Given the description of an element on the screen output the (x, y) to click on. 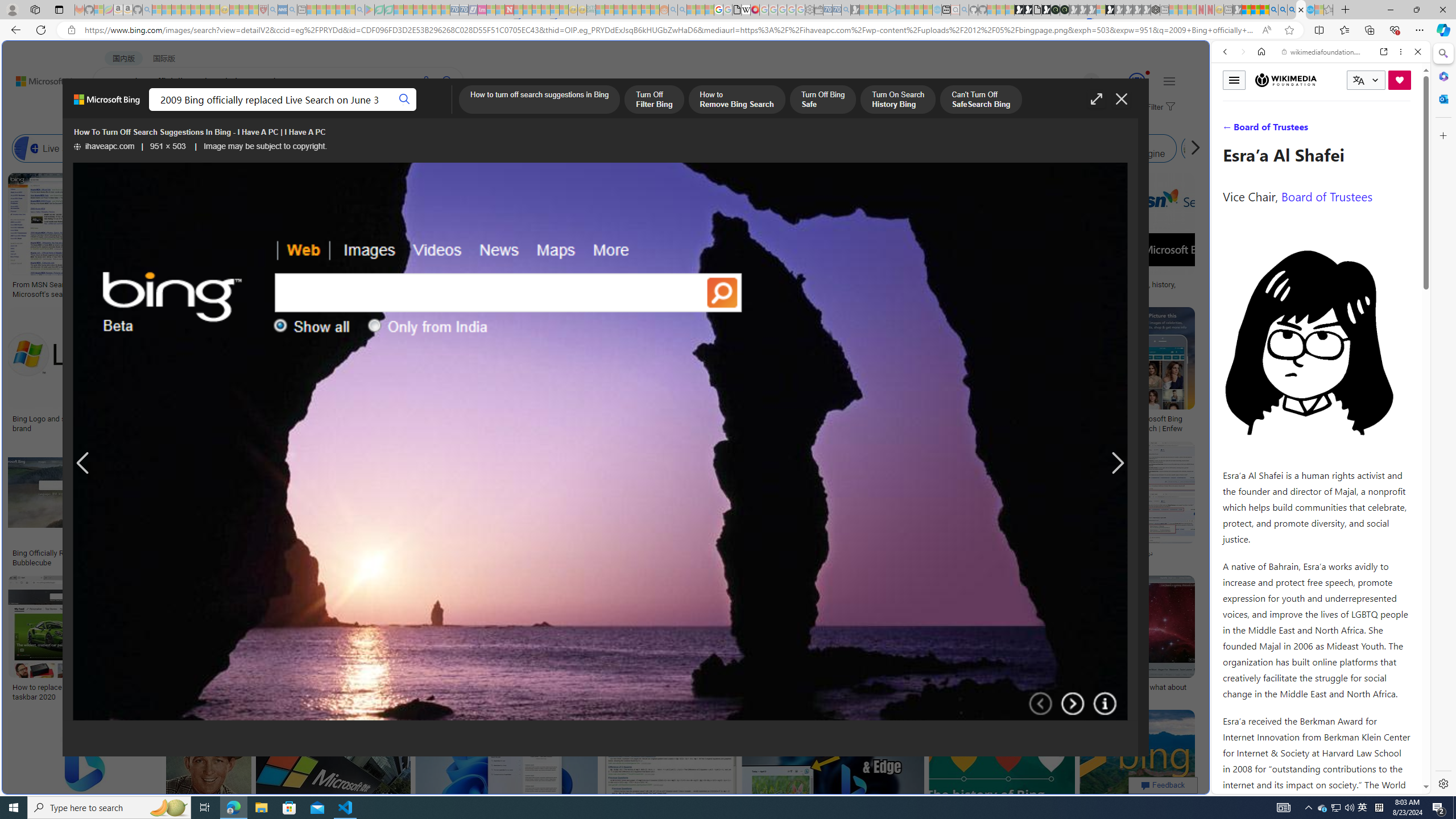
Search using voice (426, 80)
Wiktionary (1315, 380)
Target page - Wikipedia (745, 9)
microsoft bingSave (1045, 371)
Microsoft Bing Search | Enfew (1162, 423)
Bing (2009) (RARE/FAKE) - YouTube (942, 552)
DICT (407, 111)
Remove the 'News & Interests' bar from Bing | TechLife (860, 419)
